Given the description of an element on the screen output the (x, y) to click on. 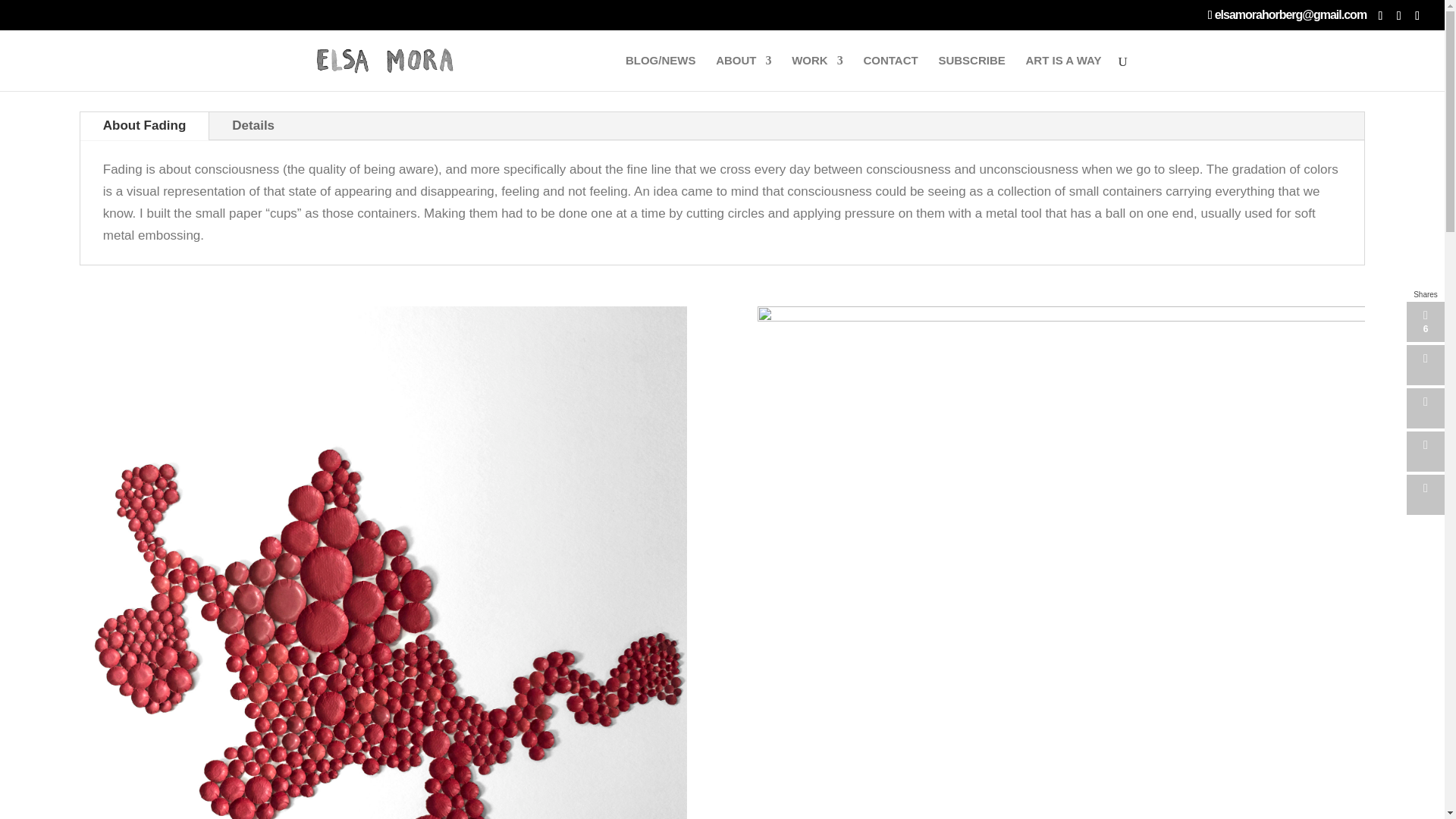
SUBSCRIBE (970, 72)
WORK (817, 72)
CONTACT (890, 72)
ART IS A WAY (1062, 72)
ABOUT (743, 72)
